Given the description of an element on the screen output the (x, y) to click on. 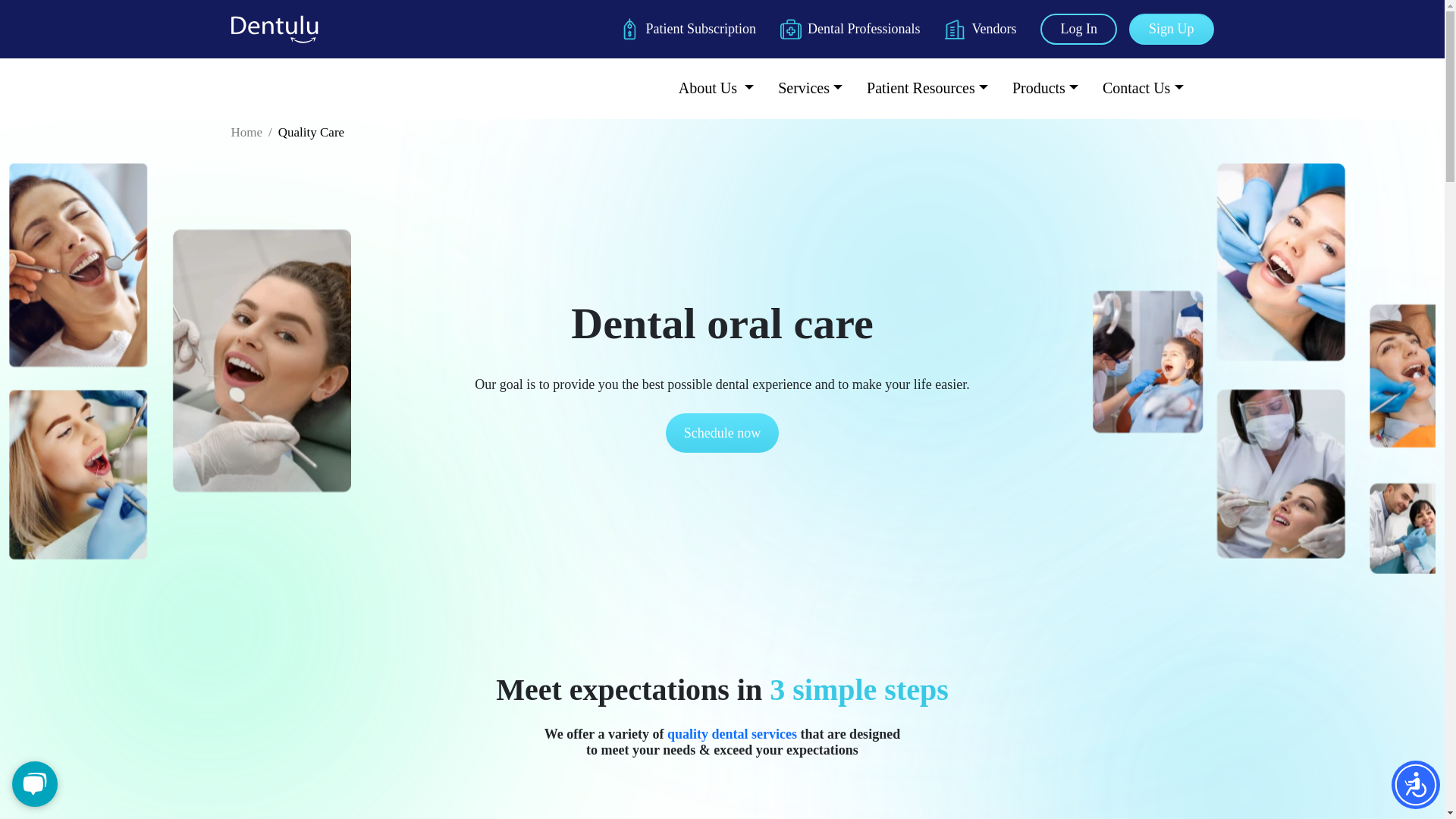
Patient Subscription (687, 28)
Log In (1078, 29)
Log In (1078, 29)
Dental Professionals (849, 28)
Chat Widget (37, 782)
Sign Up (1171, 29)
Accessibility Menu (1415, 784)
Sign Up (1171, 29)
Services (809, 88)
Vendors (979, 28)
About Us (716, 88)
